Given the description of an element on the screen output the (x, y) to click on. 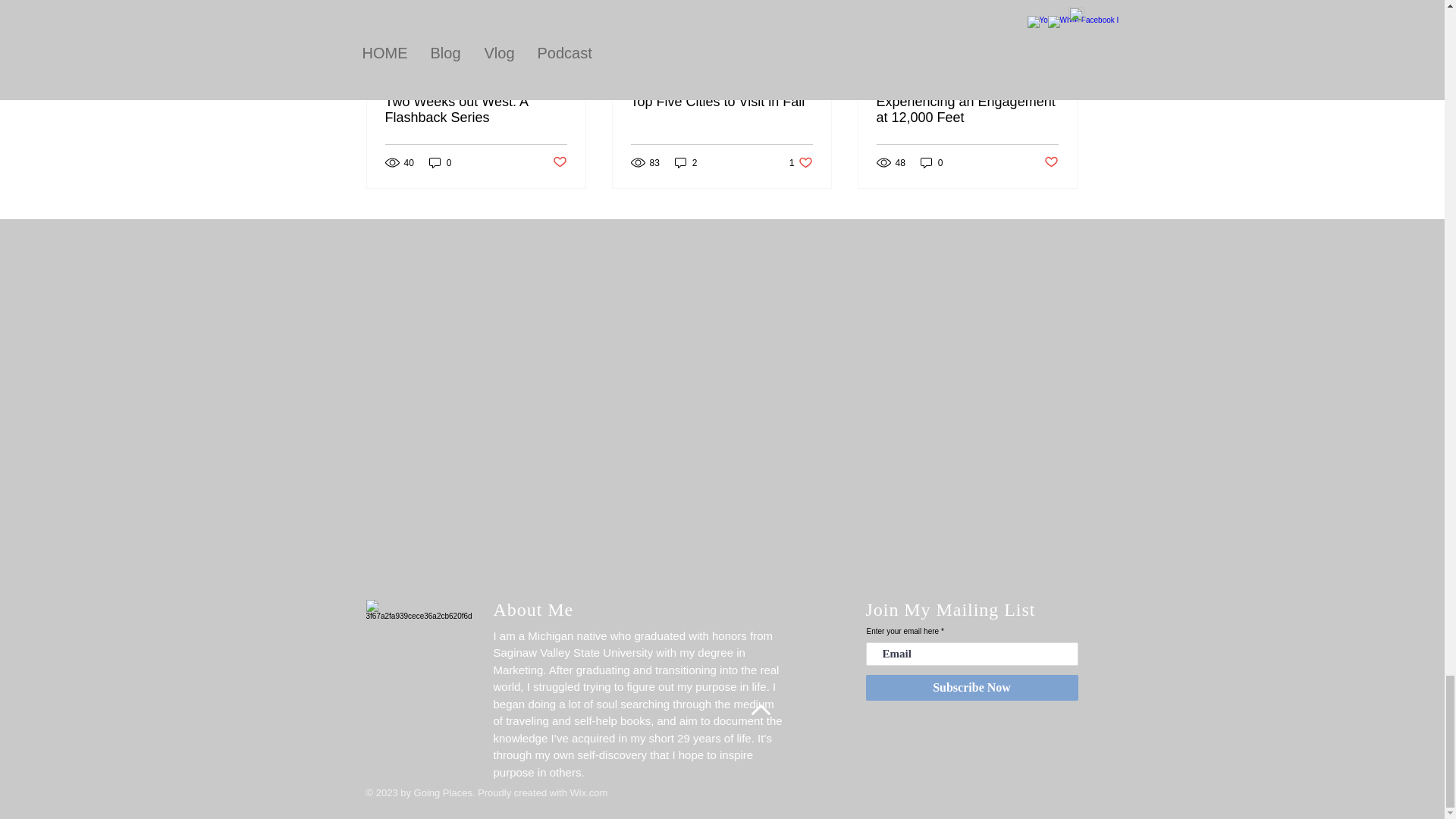
Post not marked as liked (558, 162)
Wix.com (589, 792)
0 (440, 162)
Subscribe Now (972, 687)
Post not marked as liked (1050, 162)
0 (931, 162)
2 (685, 162)
Two Weeks out West: A Flashback Series (476, 110)
Top Five Cities to Visit in Fall (800, 162)
